Given the description of an element on the screen output the (x, y) to click on. 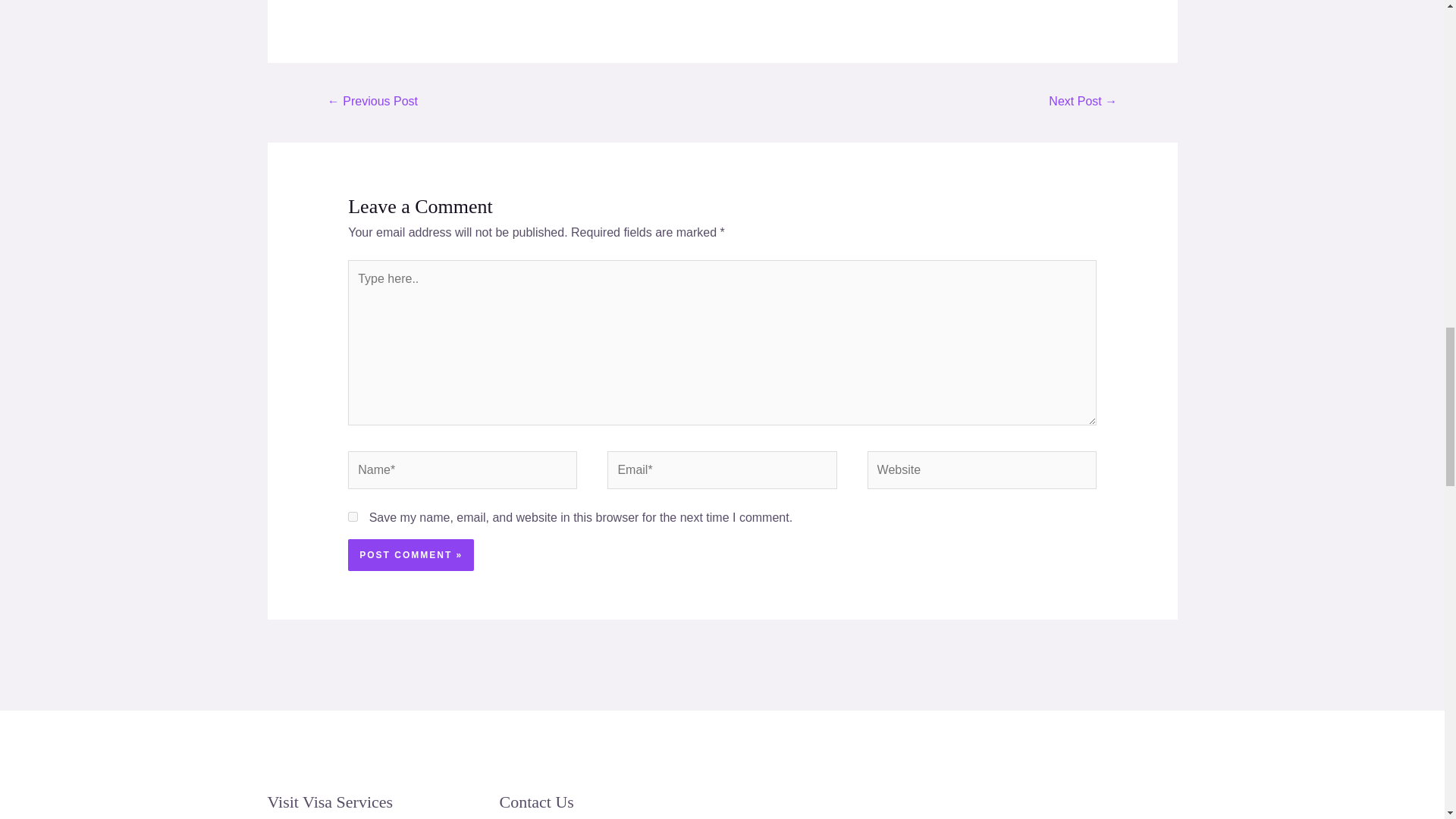
yes (352, 516)
Report Finds 'Call Deflection' Loan Servicing Scheme (1082, 102)
